Given the description of an element on the screen output the (x, y) to click on. 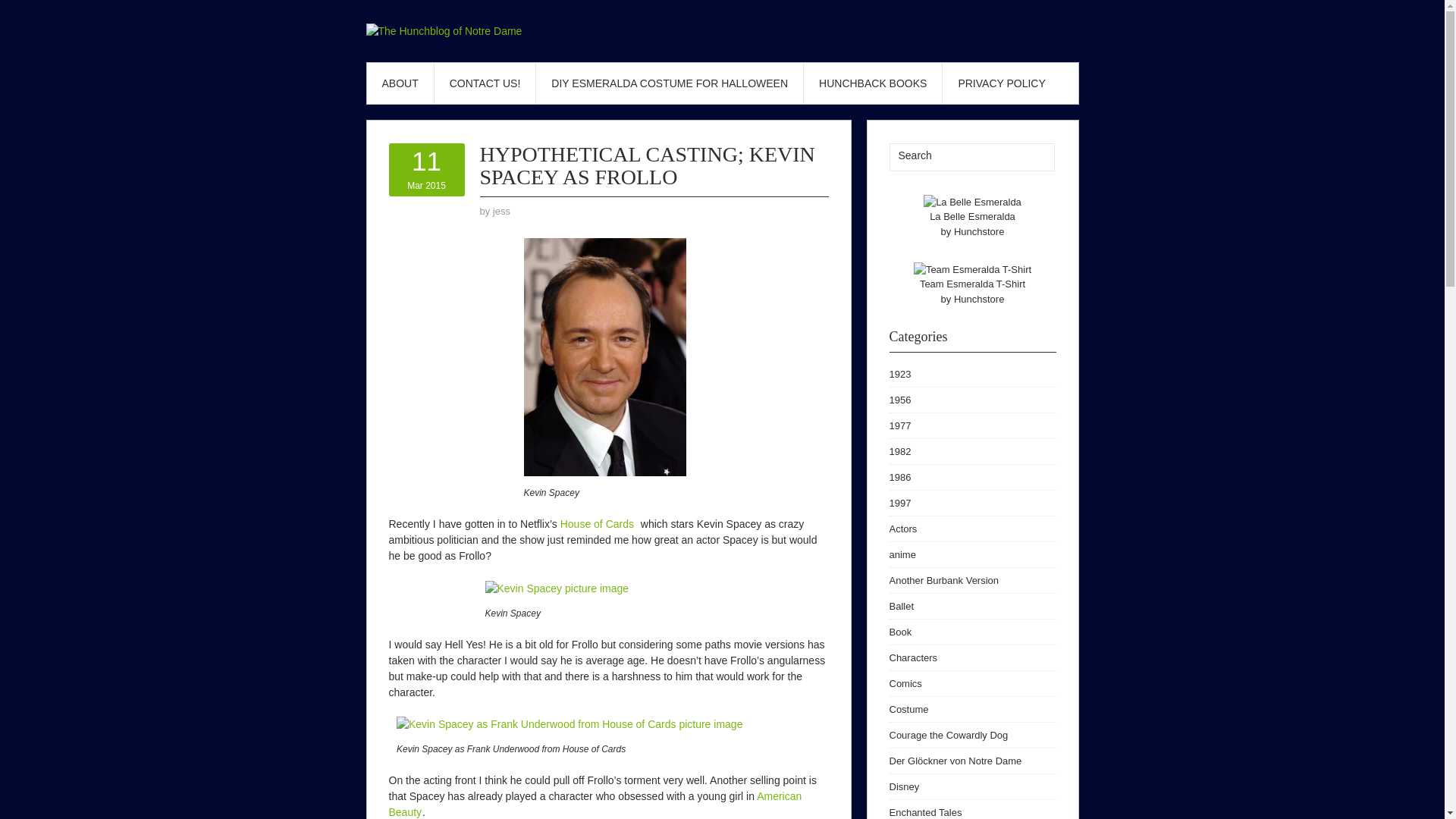
Search (954, 155)
Search (1032, 156)
PRIVACY POLICY (1000, 83)
ABOUT (426, 169)
by jess (399, 83)
1986 (502, 211)
1956 (899, 477)
1982 (899, 399)
HUNCHBACK BOOKS (899, 451)
